Given the description of an element on the screen output the (x, y) to click on. 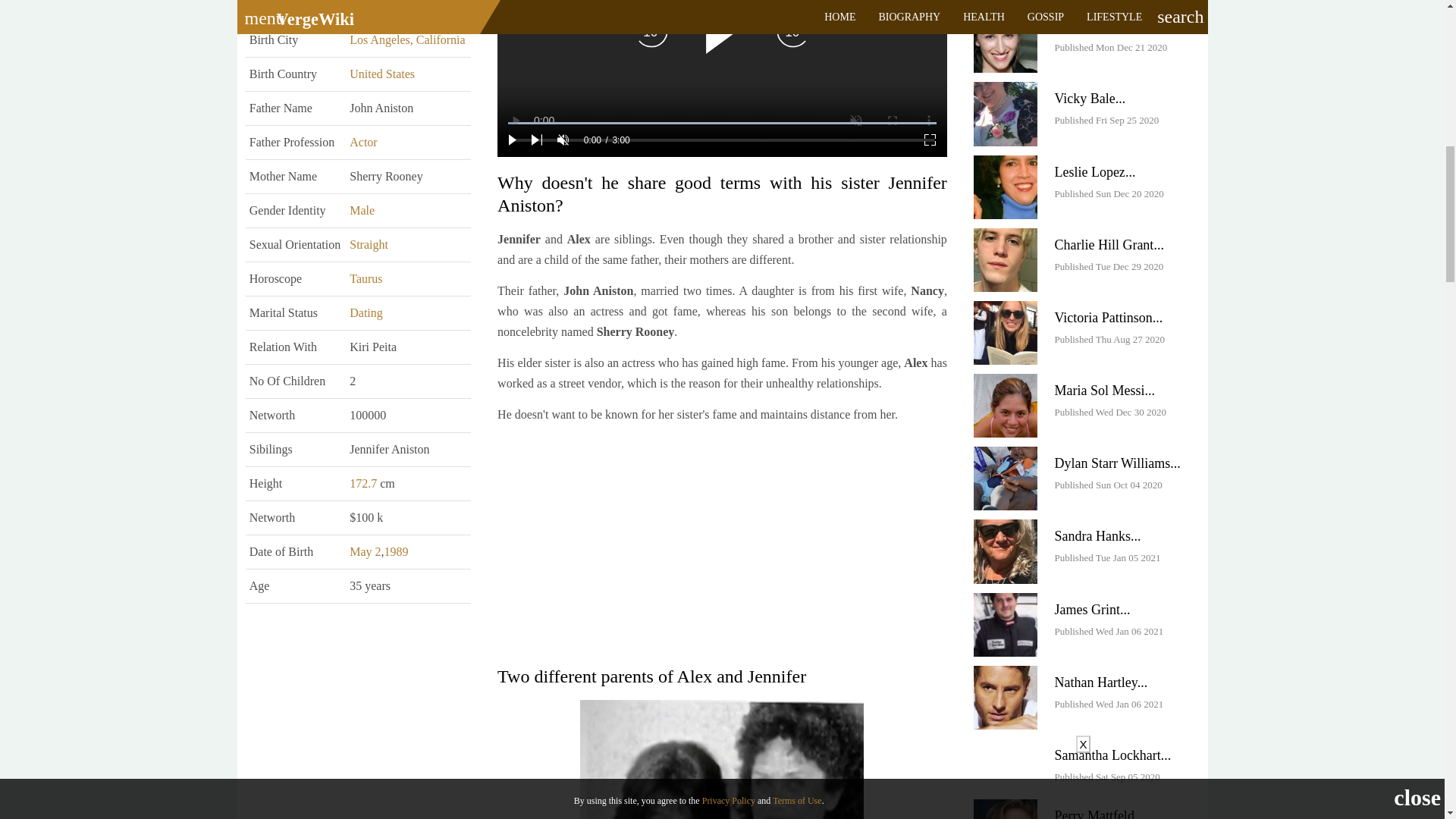
Dating (365, 312)
Play (512, 139)
Unmute (562, 139)
172.7 (363, 482)
Play Video (722, 30)
Taurus (365, 278)
Backward Skip 10s (652, 30)
Forward Skip 10s (792, 30)
American (373, 6)
United States (381, 73)
1989 (396, 551)
Fullscreen (929, 139)
Straight (368, 244)
Actor (363, 141)
Male (361, 210)
